Given the description of an element on the screen output the (x, y) to click on. 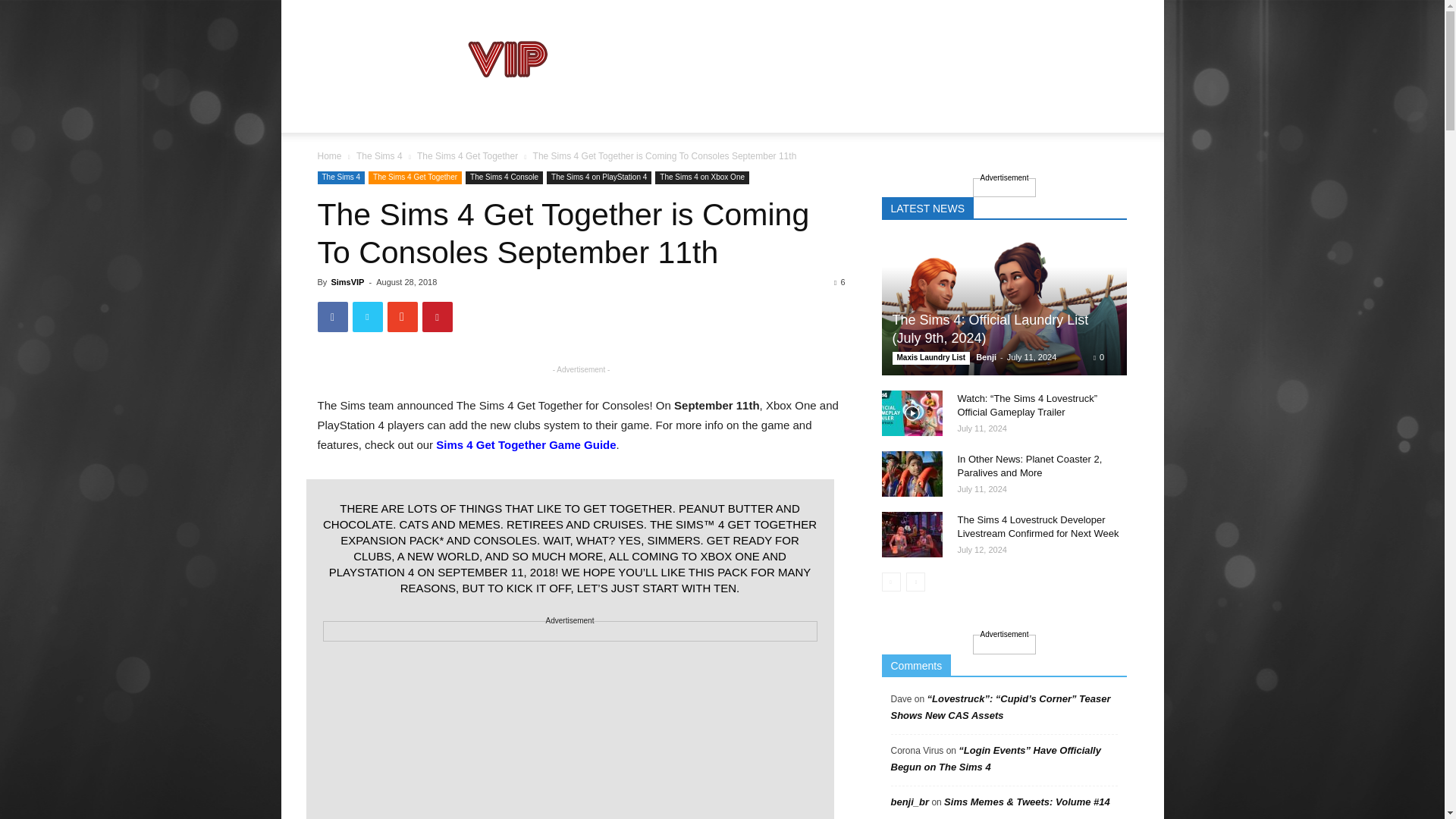
GAME GUIDES (453, 114)
SIMS NEWS (357, 114)
